Given the description of an element on the screen output the (x, y) to click on. 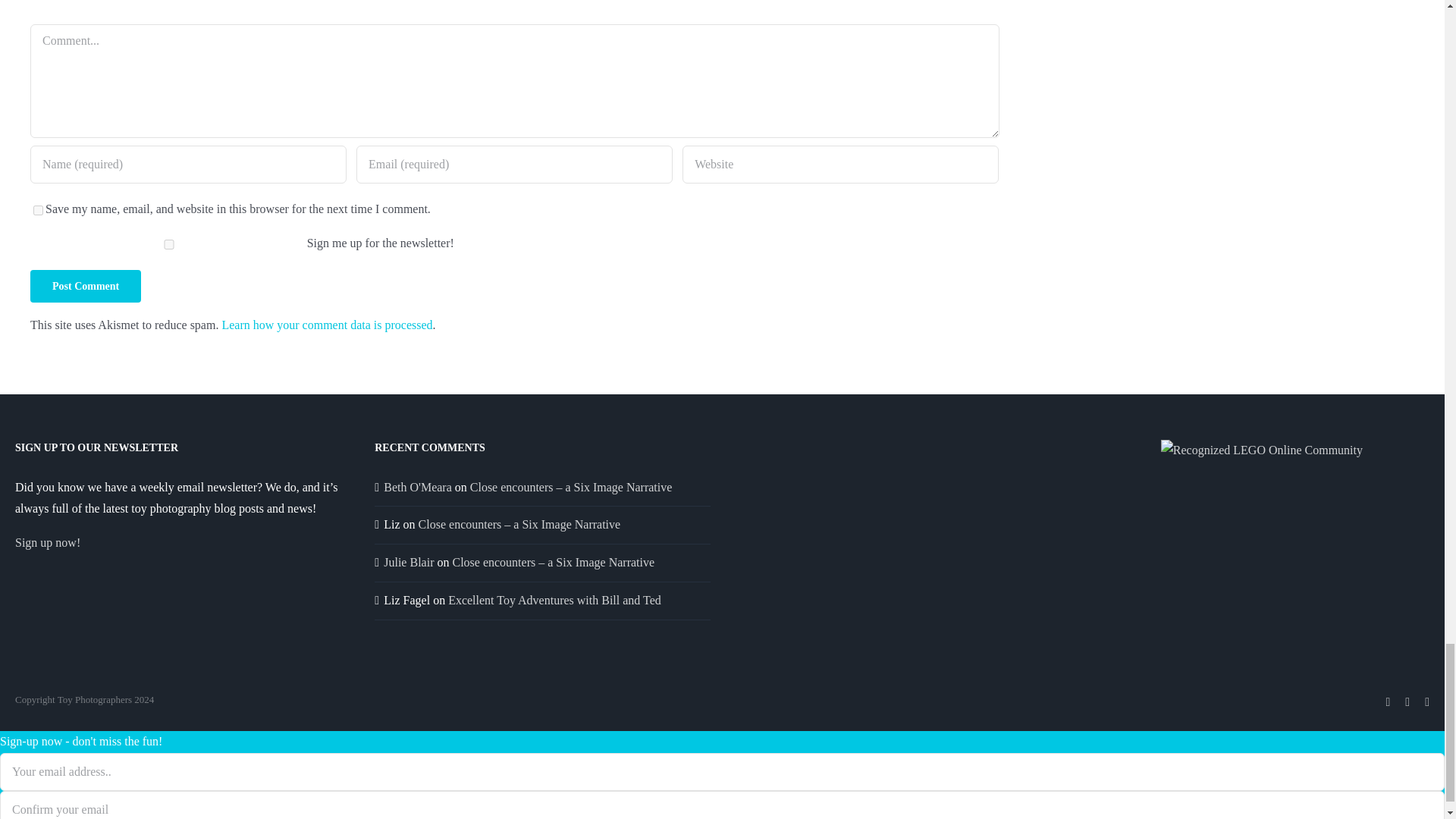
yes (38, 210)
Post Comment (85, 286)
1 (168, 244)
